Given the description of an element on the screen output the (x, y) to click on. 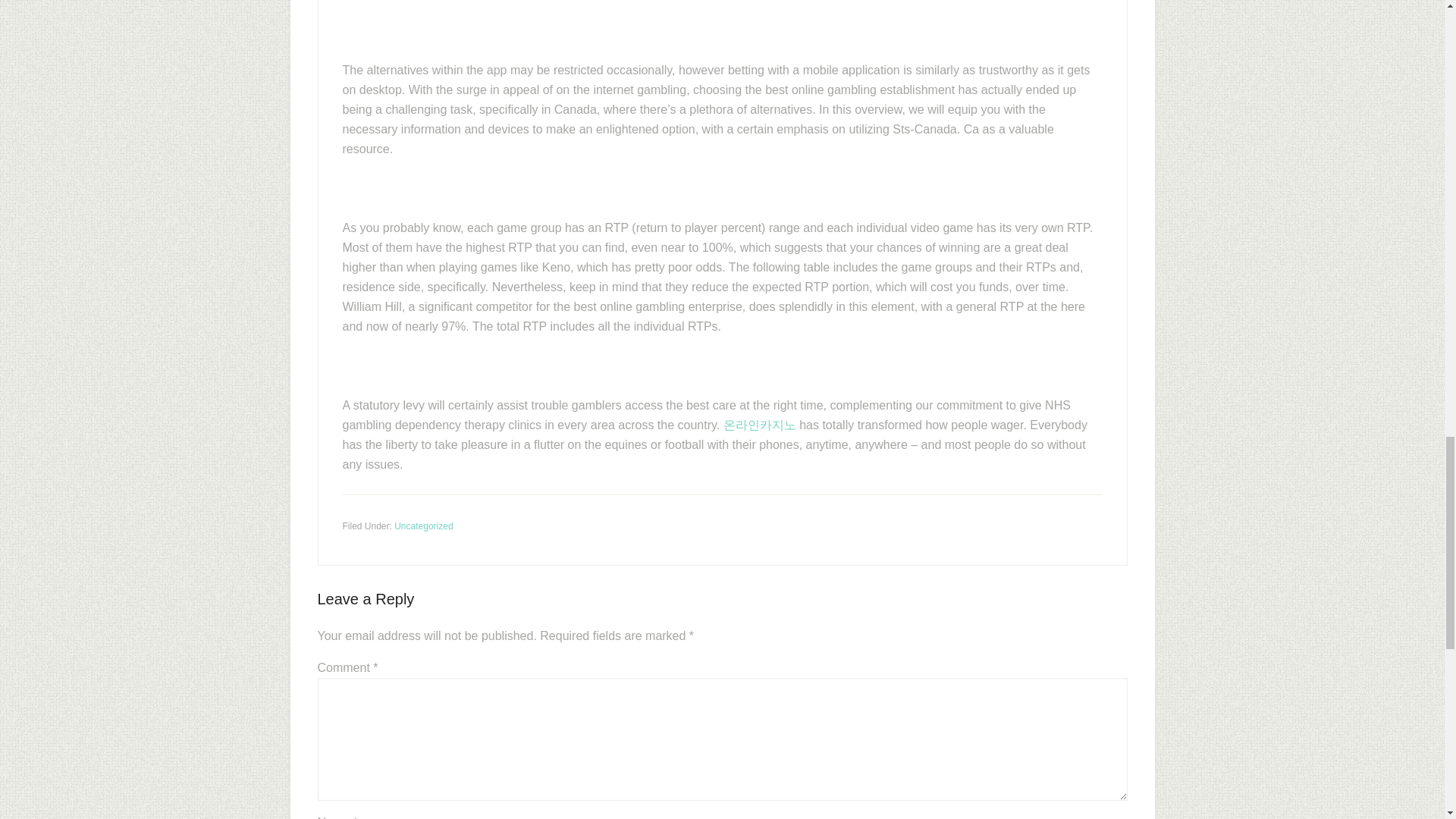
Uncategorized (423, 525)
